Given the description of an element on the screen output the (x, y) to click on. 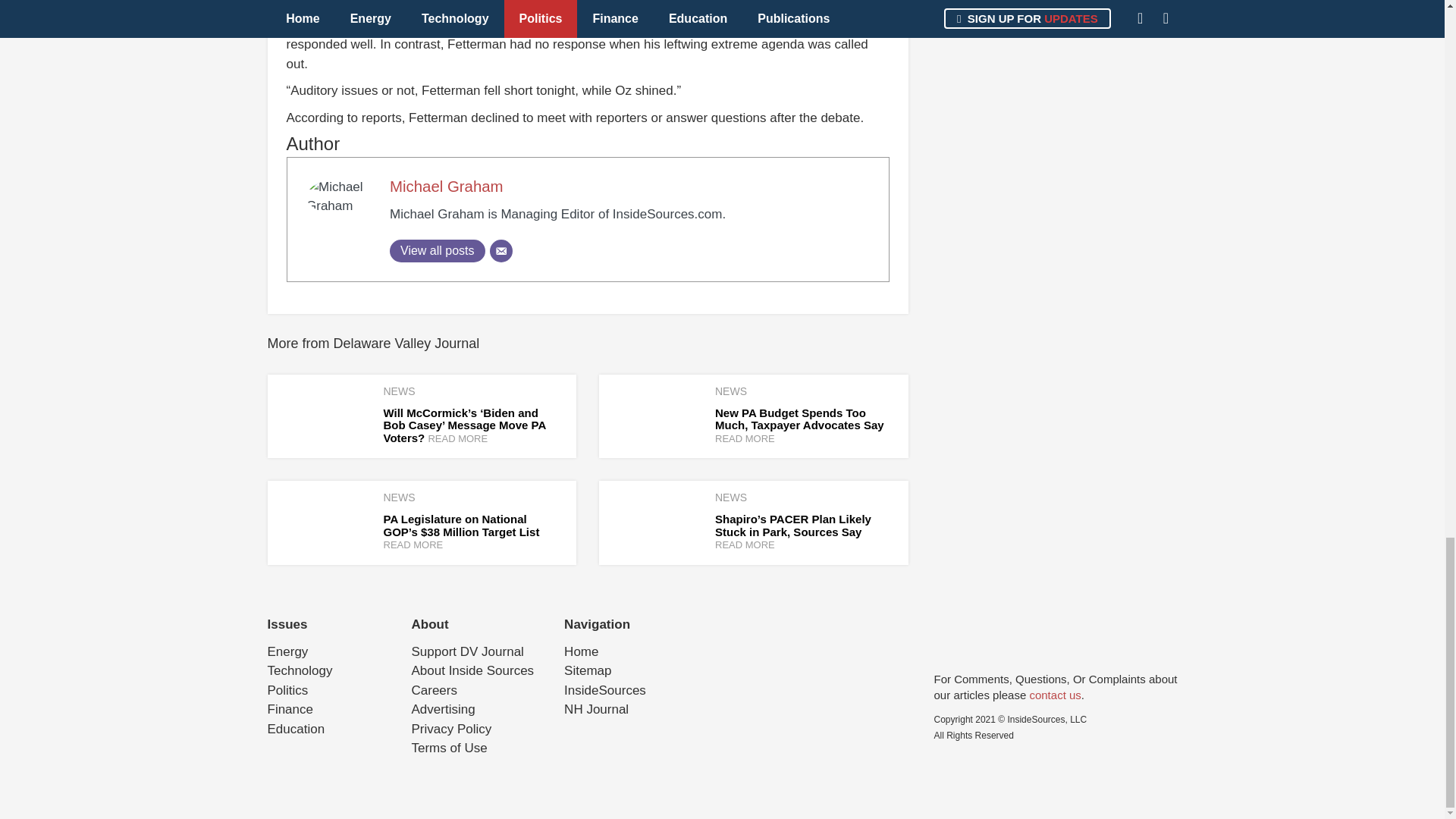
Michael Graham (446, 186)
View all posts (437, 250)
View all posts (437, 250)
Michael Graham (446, 186)
